Given the description of an element on the screen output the (x, y) to click on. 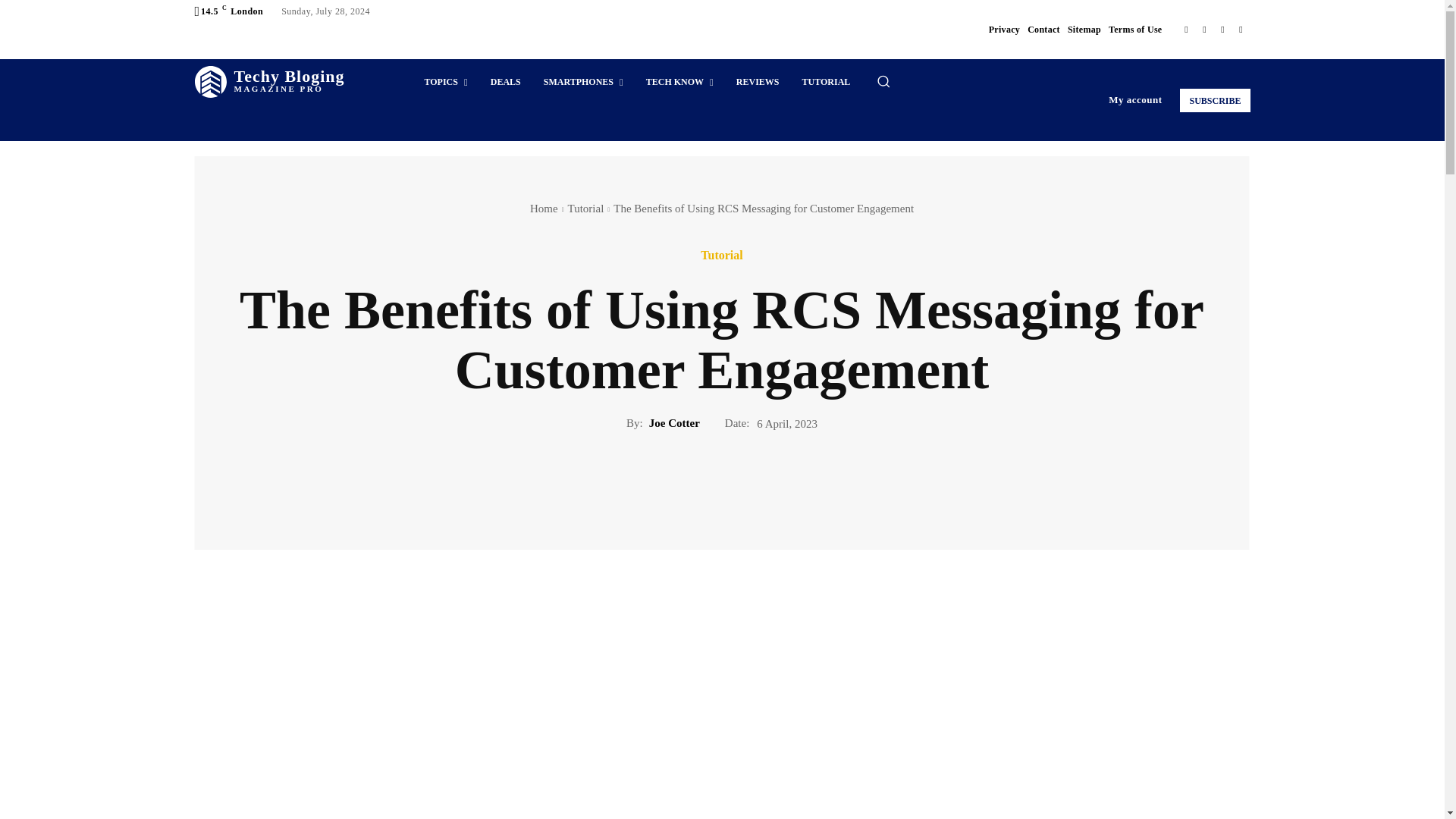
SMARTPHONES (583, 81)
Privacy (1004, 29)
Youtube (1240, 29)
TOPICS (445, 81)
Terms of Use (1134, 29)
Instagram (268, 81)
View all posts in Tutorial (1203, 29)
DEALS (585, 208)
Facebook (505, 81)
Contact (1185, 29)
REVIEWS (1043, 29)
Subscribe (757, 81)
TECH KNOW (1214, 100)
Twitter (679, 81)
